Given the description of an element on the screen output the (x, y) to click on. 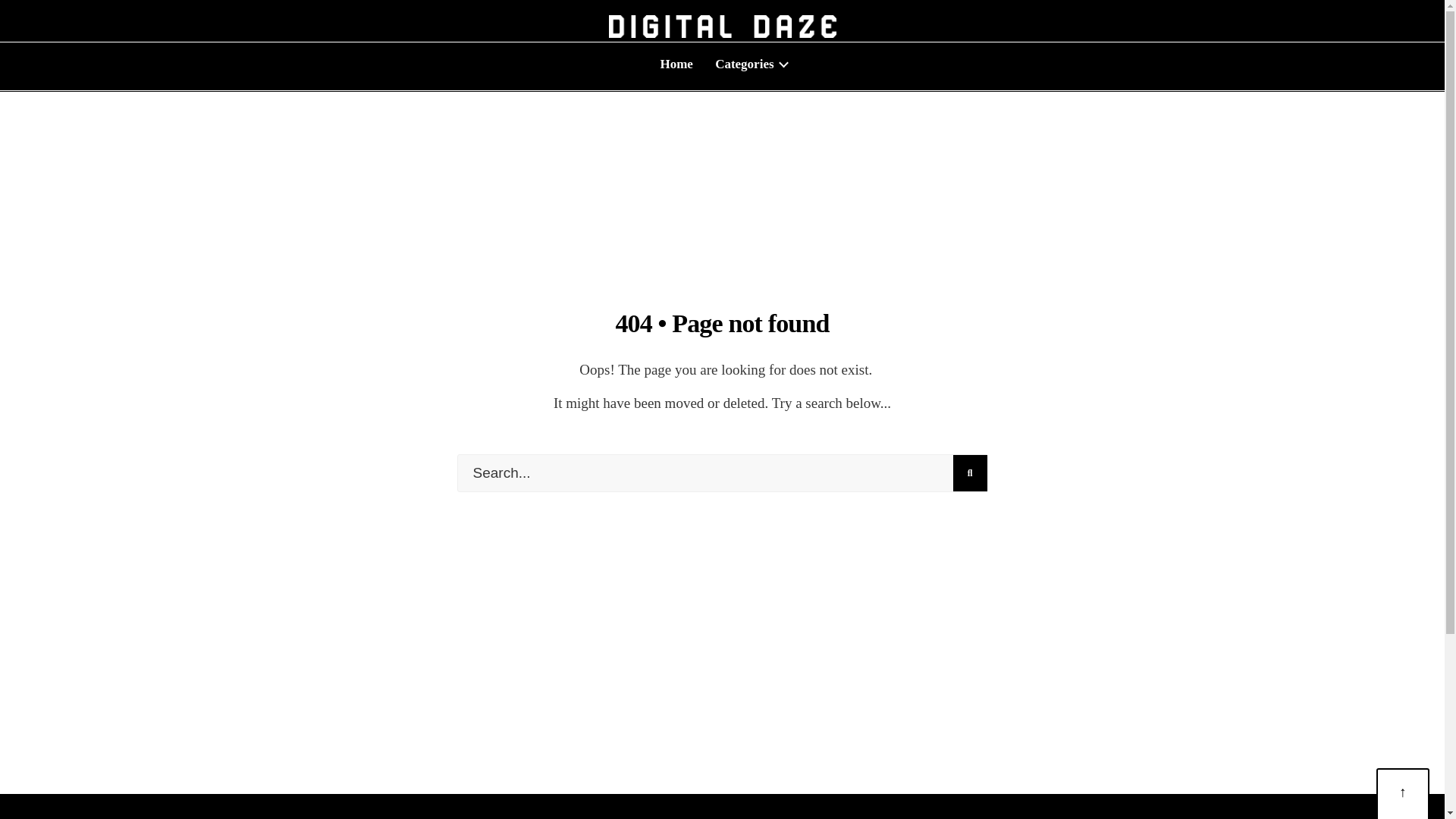
Home (676, 63)
Scroll to top (1402, 794)
Search... (722, 473)
Categories (749, 63)
